Given the description of an element on the screen output the (x, y) to click on. 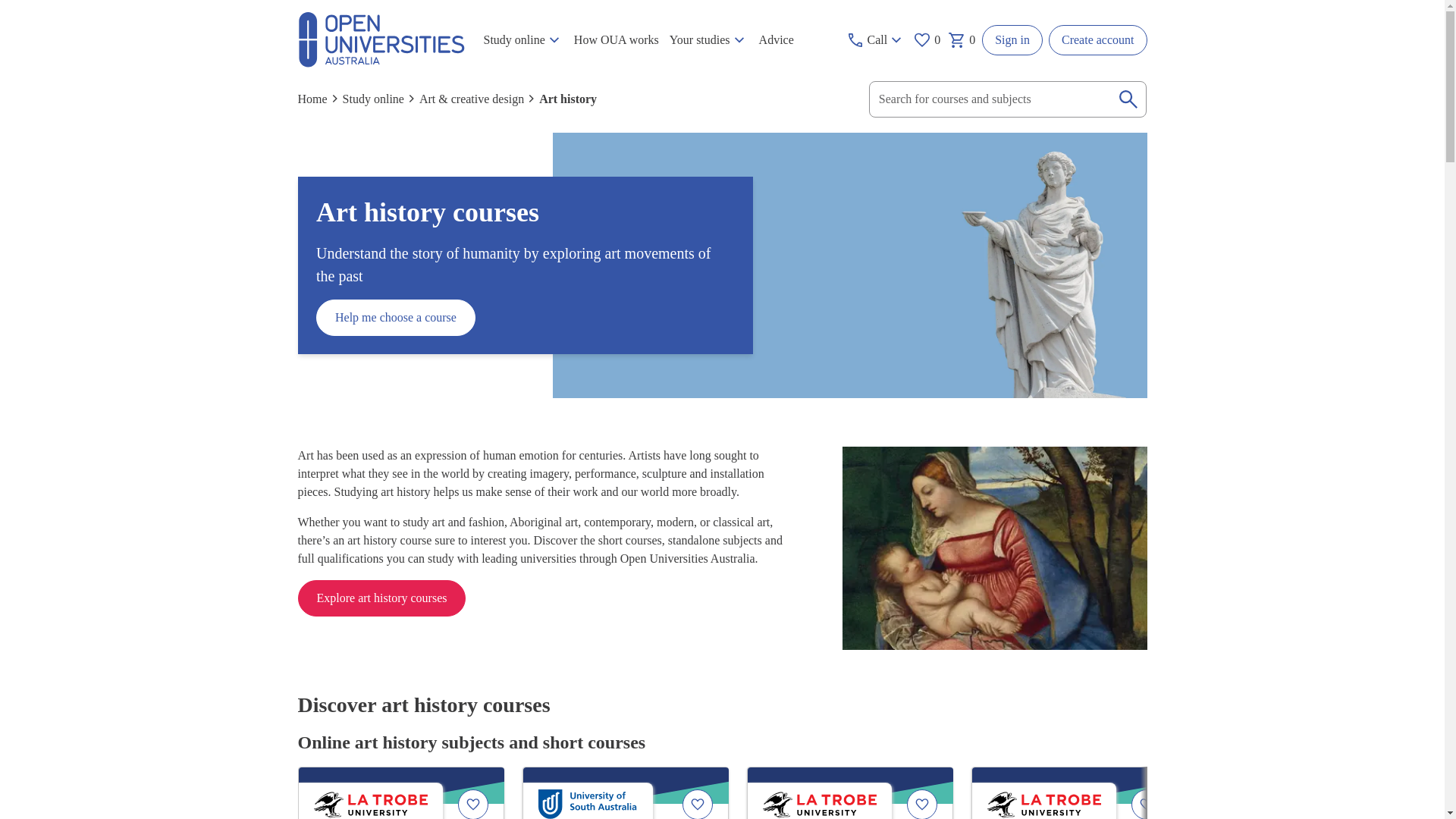
Study online (522, 40)
How OUA works (616, 40)
Your studies (708, 40)
